Given the description of an element on the screen output the (x, y) to click on. 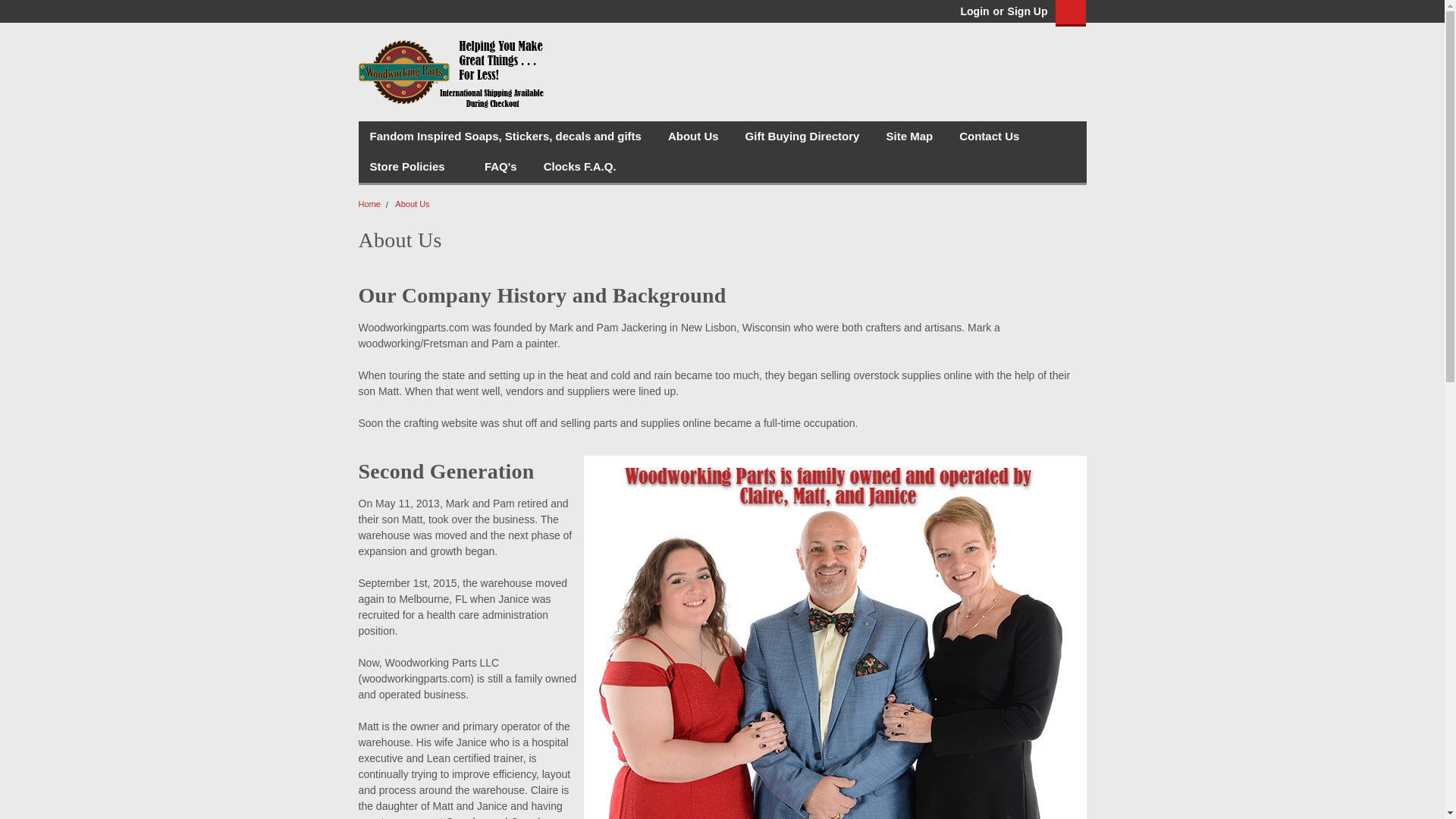
Sign Up (1026, 11)
Login (973, 11)
WoodworkingParts.com (452, 71)
